Given the description of an element on the screen output the (x, y) to click on. 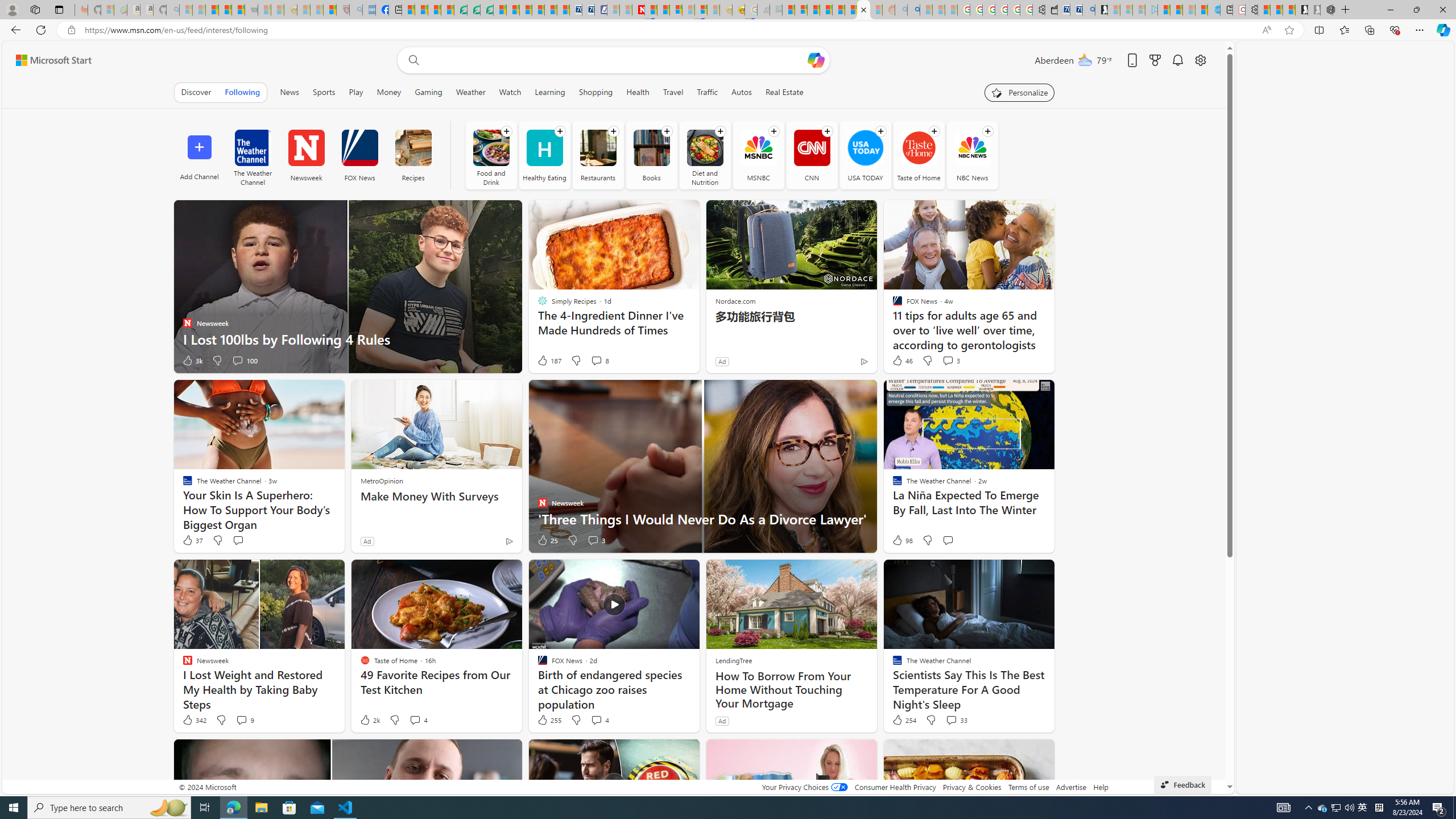
View comments 8 Comment (595, 360)
Play (355, 92)
View comments 100 Comment (237, 360)
CNN (811, 147)
